Given the description of an element on the screen output the (x, y) to click on. 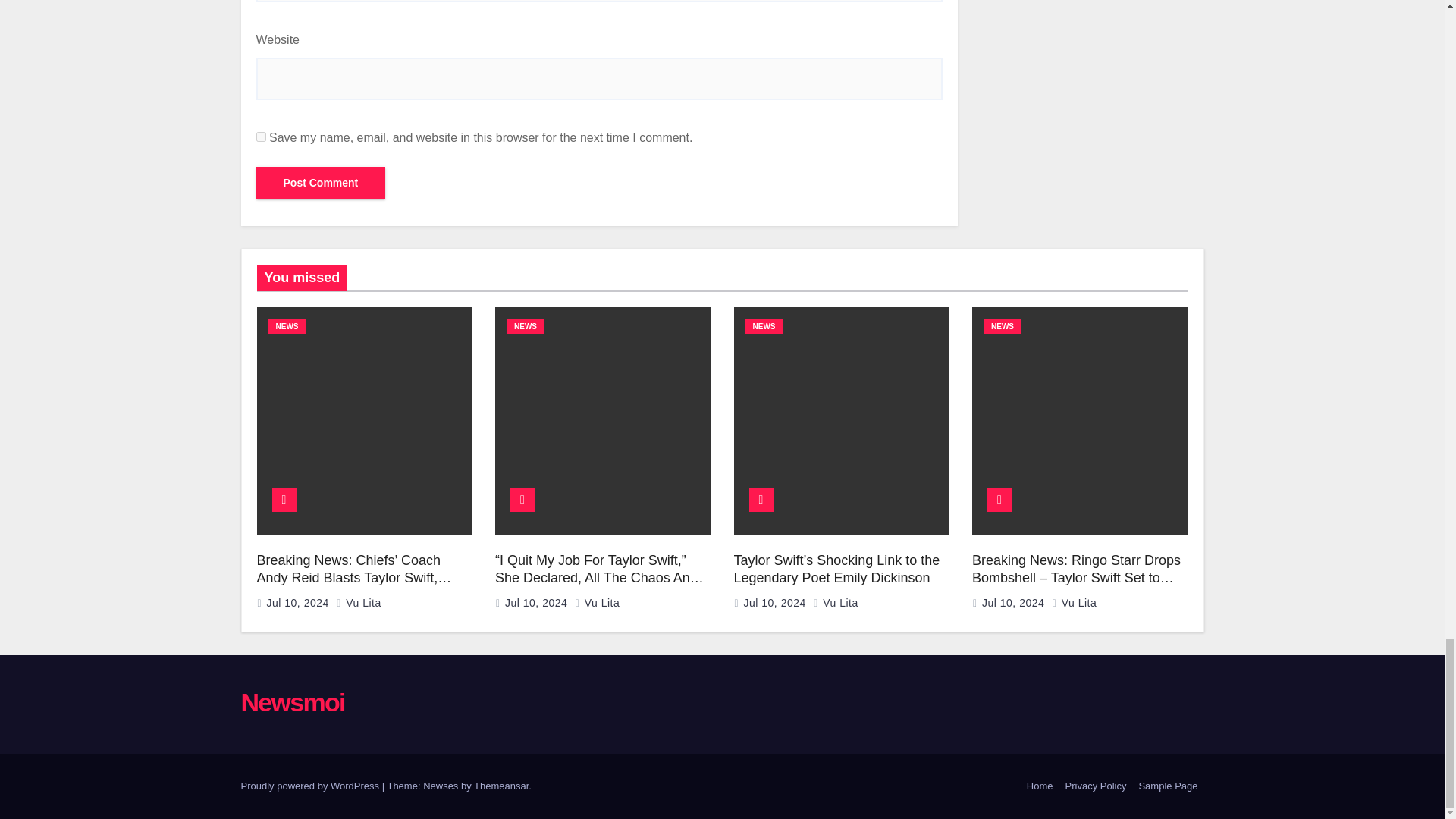
yes (261, 136)
Home (1039, 786)
Post Comment (320, 183)
Post Comment (320, 183)
